Given the description of an element on the screen output the (x, y) to click on. 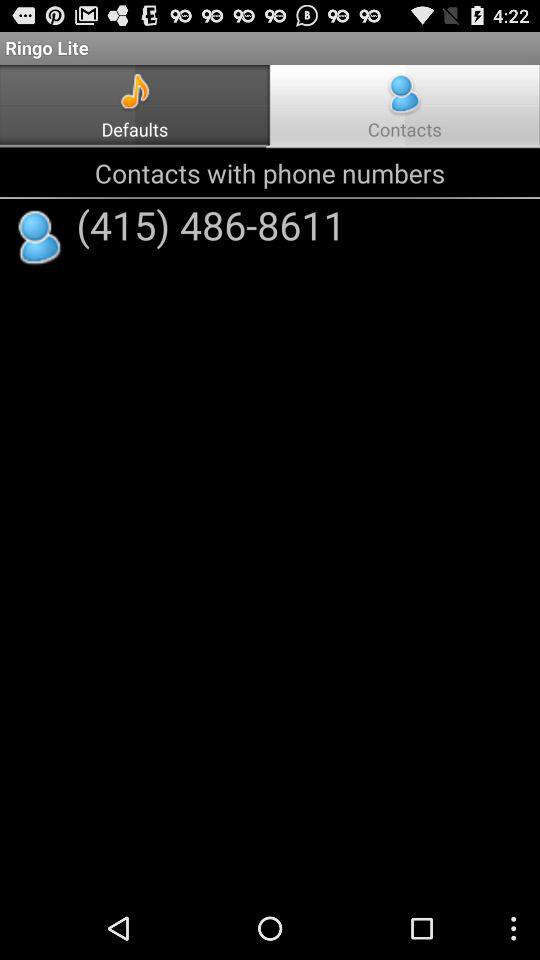
launch the (415) 486-8611 icon (210, 224)
